Given the description of an element on the screen output the (x, y) to click on. 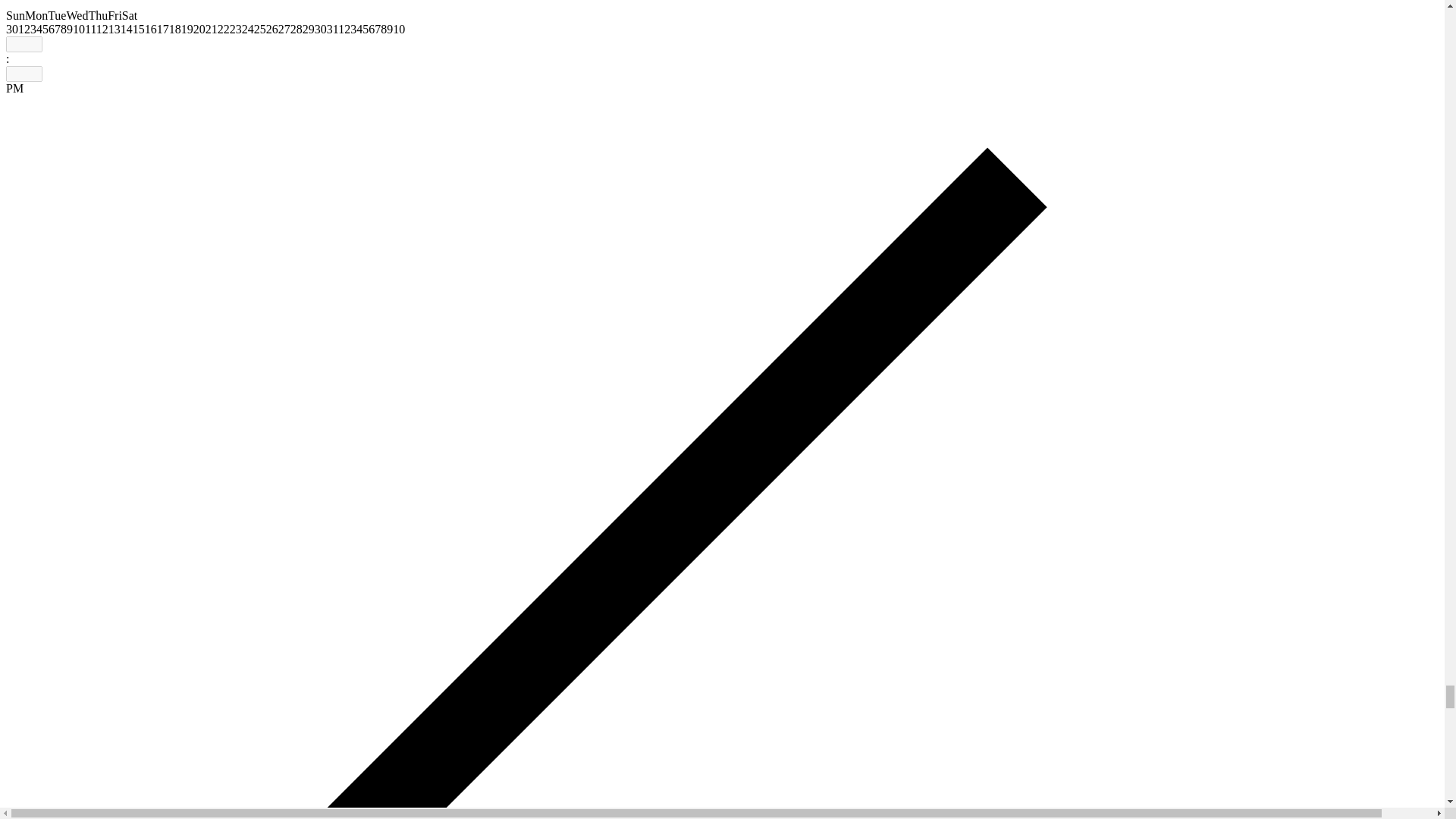
Click to toggle (14, 88)
